Given the description of an element on the screen output the (x, y) to click on. 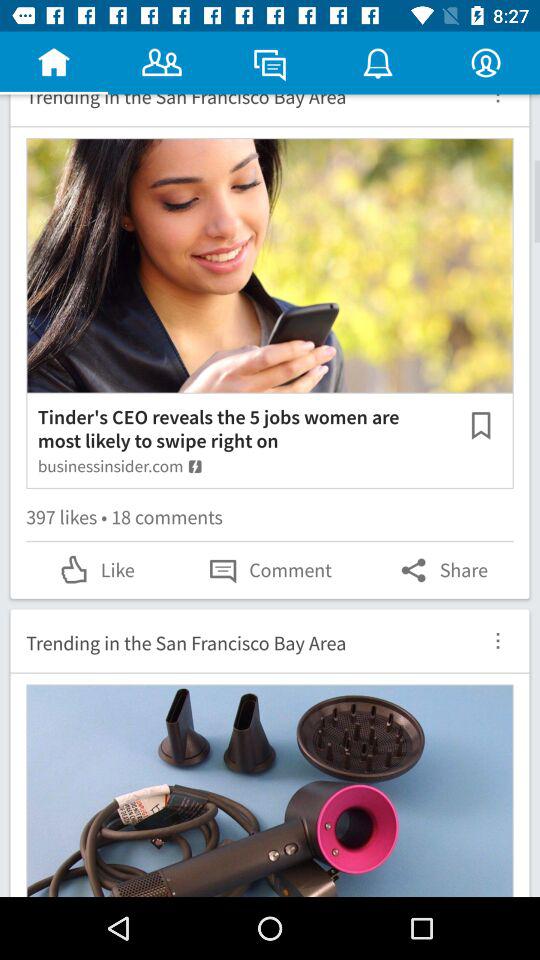
select 397 likes 18 (269, 519)
